Given the description of an element on the screen output the (x, y) to click on. 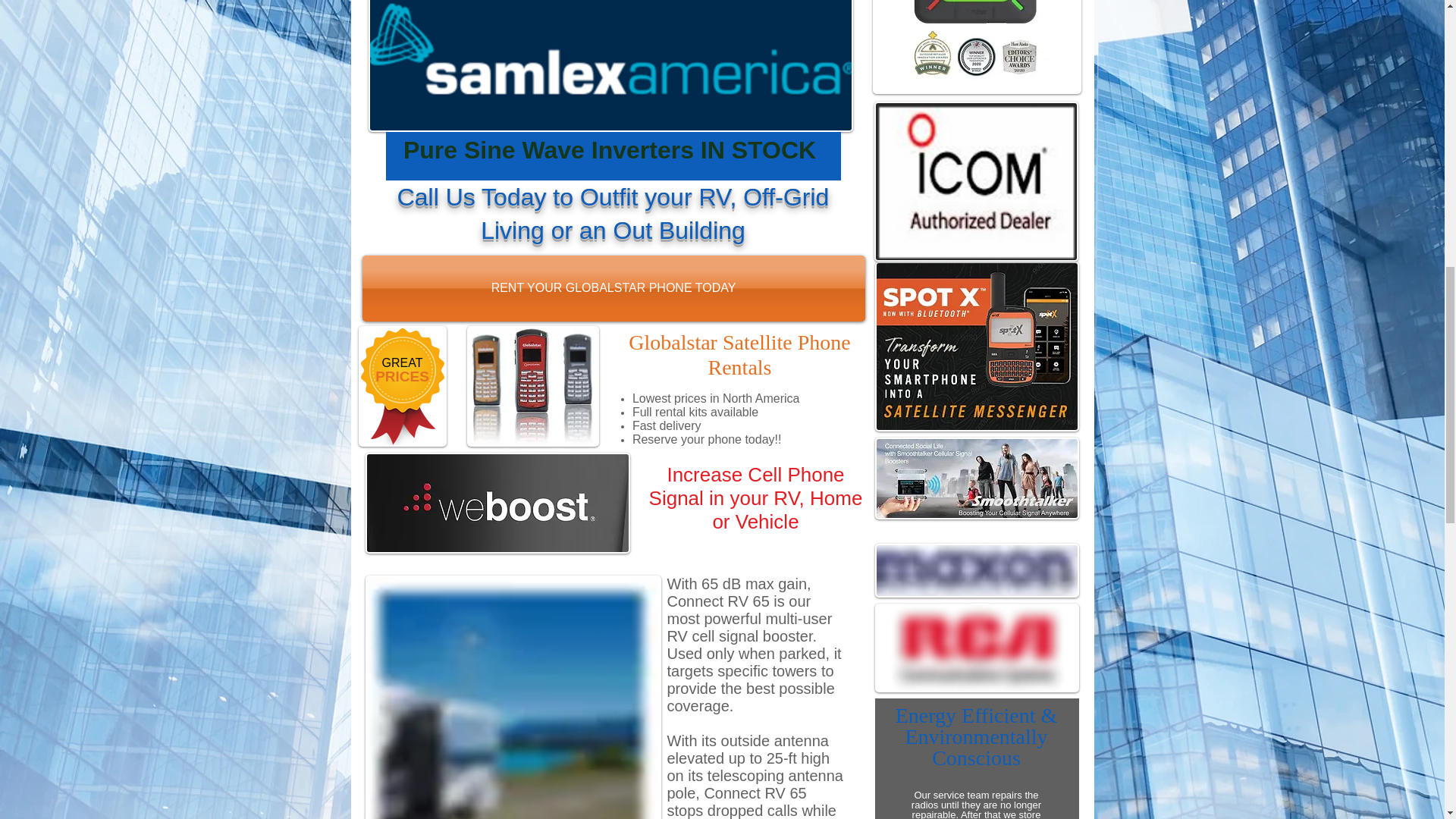
gstar.jpg (532, 385)
RENT YOUR GLOBALSTAR PHONE TODAY (613, 288)
